Given the description of an element on the screen output the (x, y) to click on. 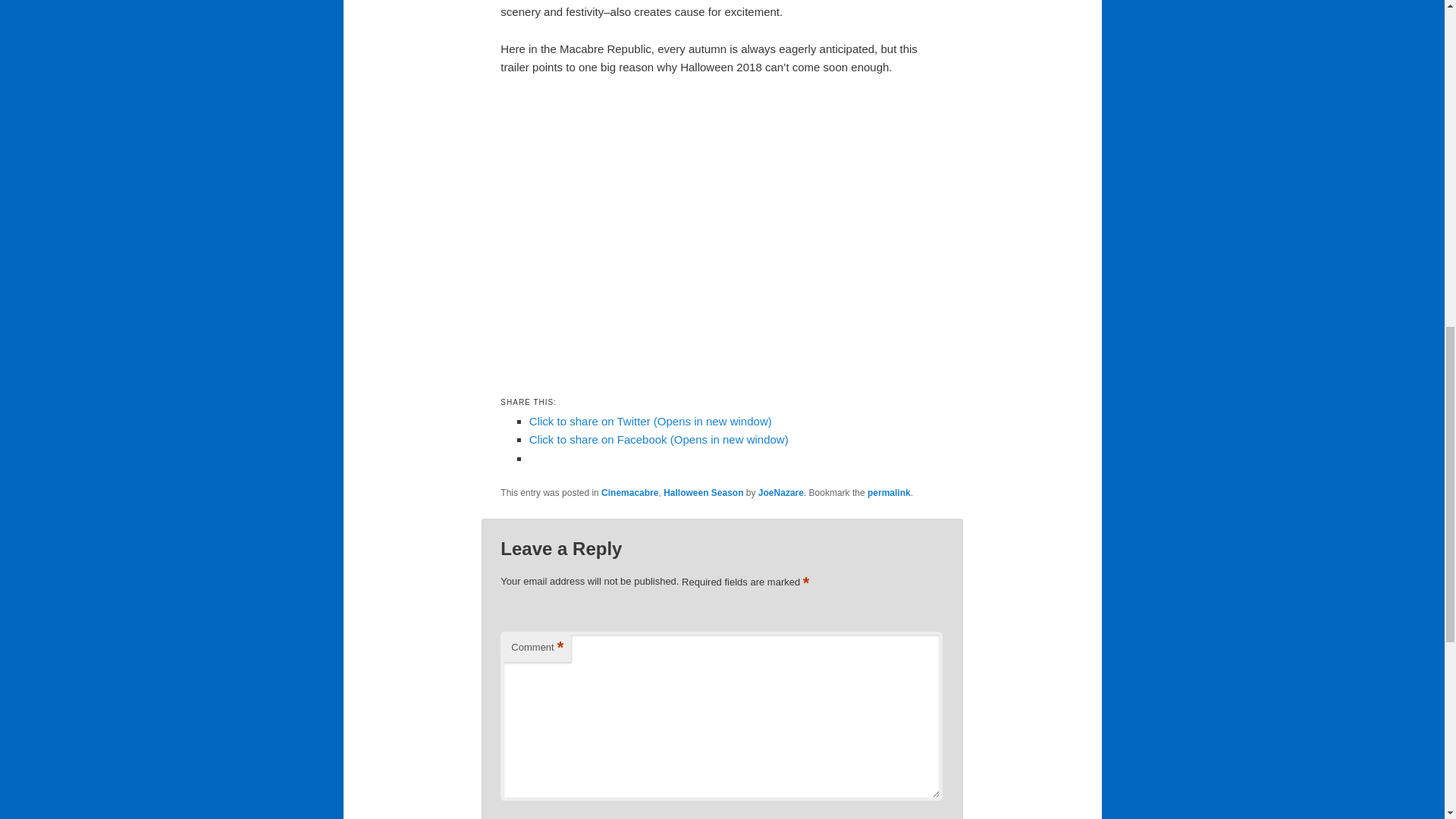
JoeNazare (780, 492)
permalink (889, 492)
Click to share on Facebook (659, 439)
Click to share on Twitter (650, 420)
Halloween Season (702, 492)
Cinemacabre (629, 492)
Permalink to Back to Haddonfield (889, 492)
